Given the description of an element on the screen output the (x, y) to click on. 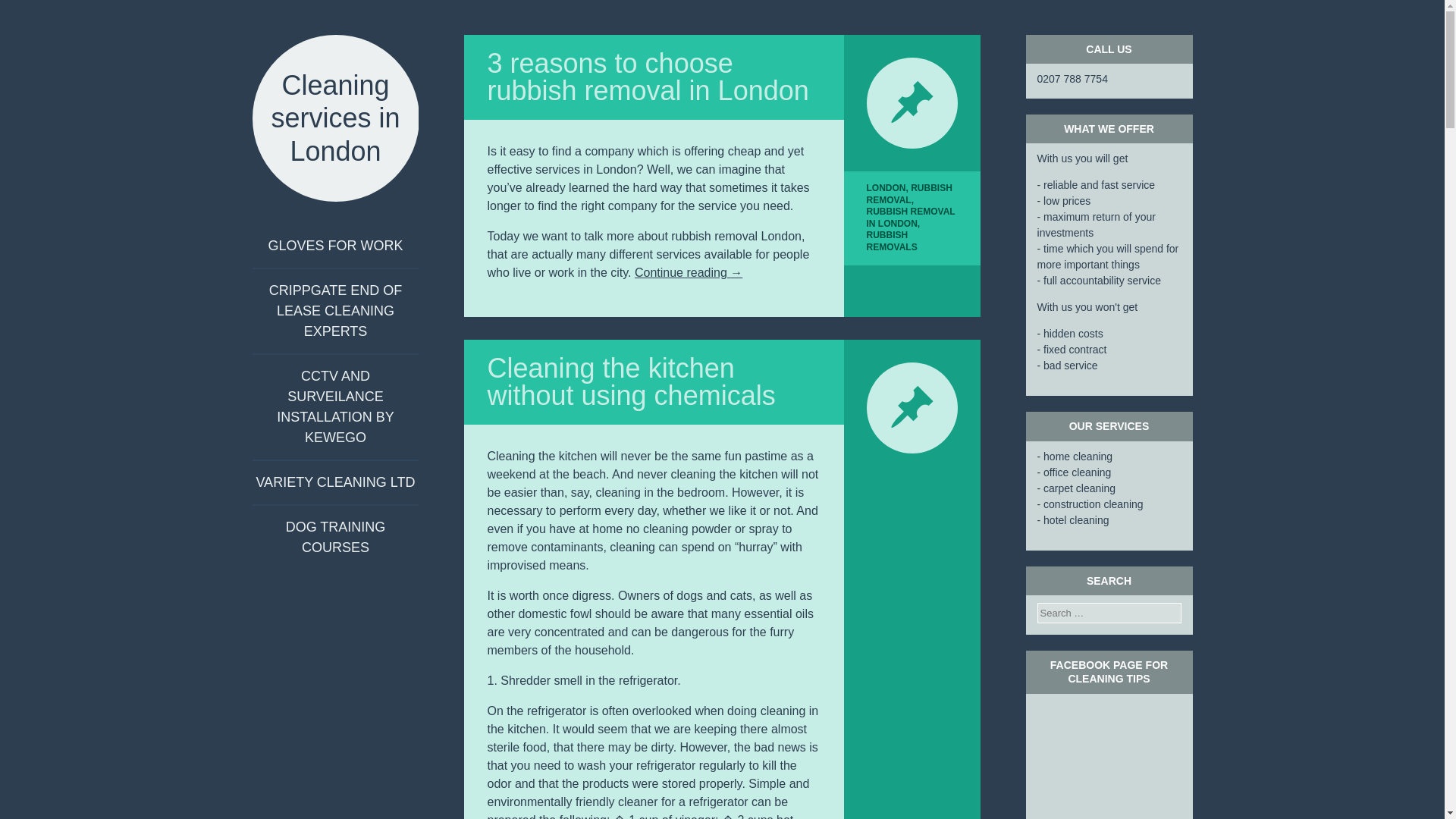
SKIP TO CONTENT (312, 245)
DOG TRAINING COURSES (335, 537)
LONDON (885, 187)
RUBBISH REMOVAL (909, 193)
Cleaning services in London (334, 117)
CCTV AND SURVEILANCE INSTALLATION BY KEWEGO (335, 406)
3 reasons to choose rubbish removal in London (647, 76)
VARIETY CLEANING LTD (335, 482)
Cleaning the kitchen without using chemicals (630, 381)
GLOVES FOR WORK (335, 245)
CRIPPGATE END OF LEASE CLEANING EXPERTS (335, 310)
Search (30, 11)
RUBBISH REMOVAL IN LONDON (910, 217)
Skip to content (312, 245)
RUBBISH REMOVALS (891, 241)
